Given the description of an element on the screen output the (x, y) to click on. 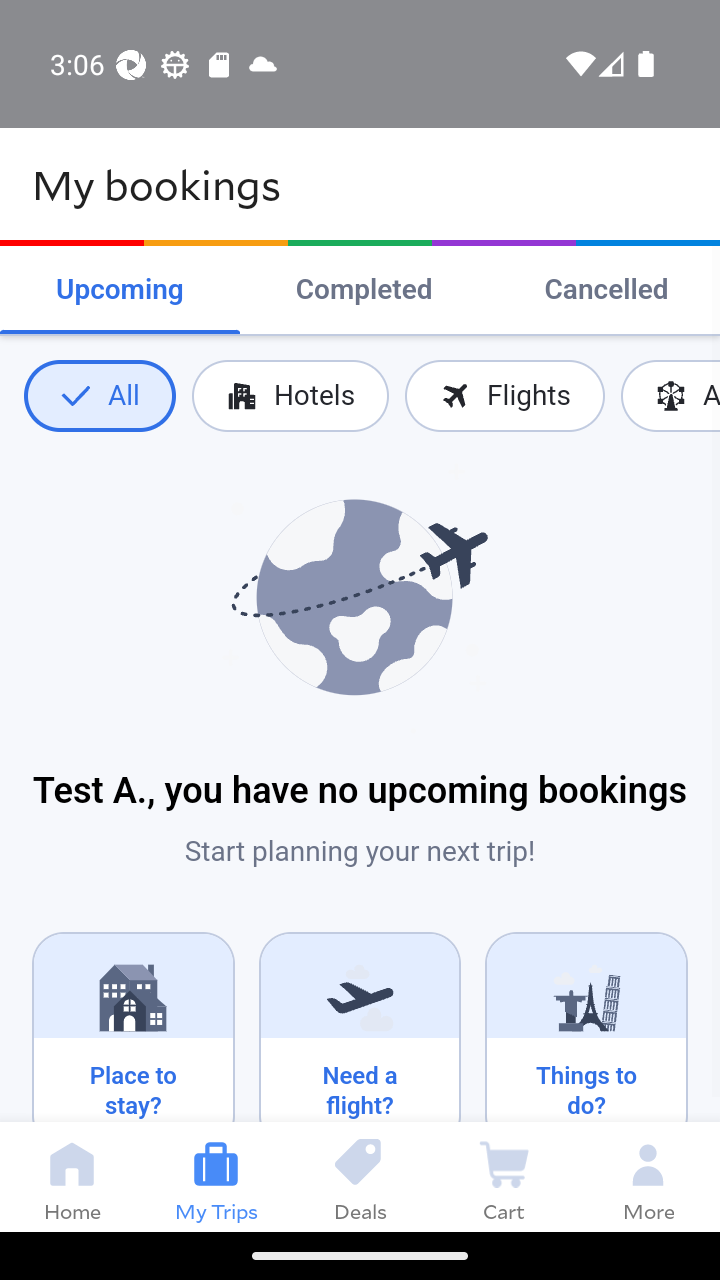
Upcoming (119, 289)
Completed (363, 289)
Cancelled (606, 289)
All (99, 395)
Hotels (290, 395)
Flights (504, 395)
Activities (669, 395)
Home (72, 1176)
My Trips (216, 1176)
Deals (360, 1176)
Cart (504, 1176)
More (648, 1176)
